Given the description of an element on the screen output the (x, y) to click on. 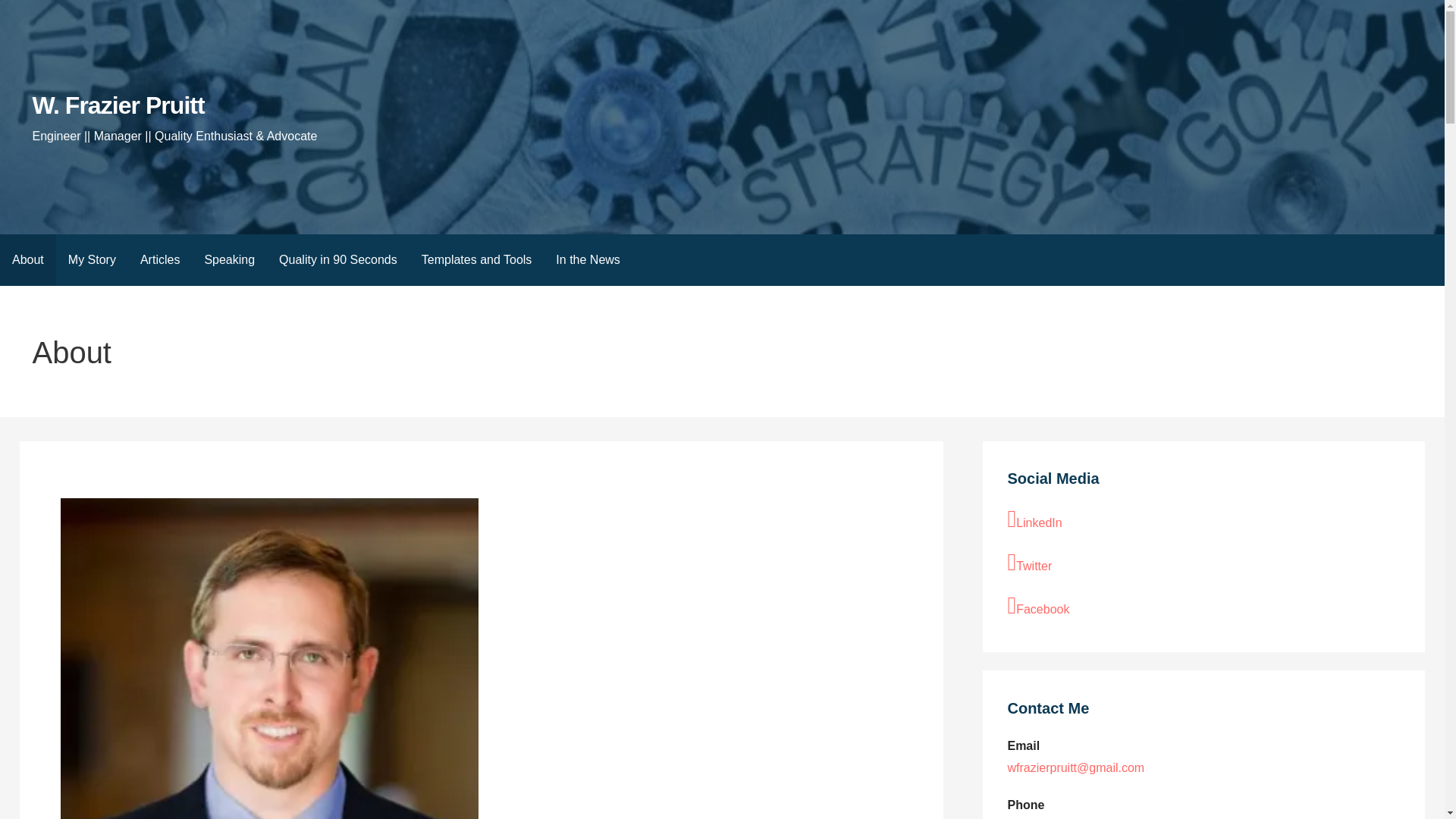
In the News (587, 259)
Quality in 90 Seconds (337, 259)
My Story (92, 259)
Templates and Tools (476, 259)
Visit W. Frazier Pruitt on Twitter (1203, 563)
Speaking (229, 259)
Facebook (1203, 606)
W. Frazier Pruitt (117, 104)
LinkedIn (1203, 520)
Visit W. Frazier Pruitt on Facebook (1203, 606)
Visit W. Frazier Pruitt on LinkedIn (1203, 520)
Twitter (1203, 563)
Articles (160, 259)
About (28, 259)
